Given the description of an element on the screen output the (x, y) to click on. 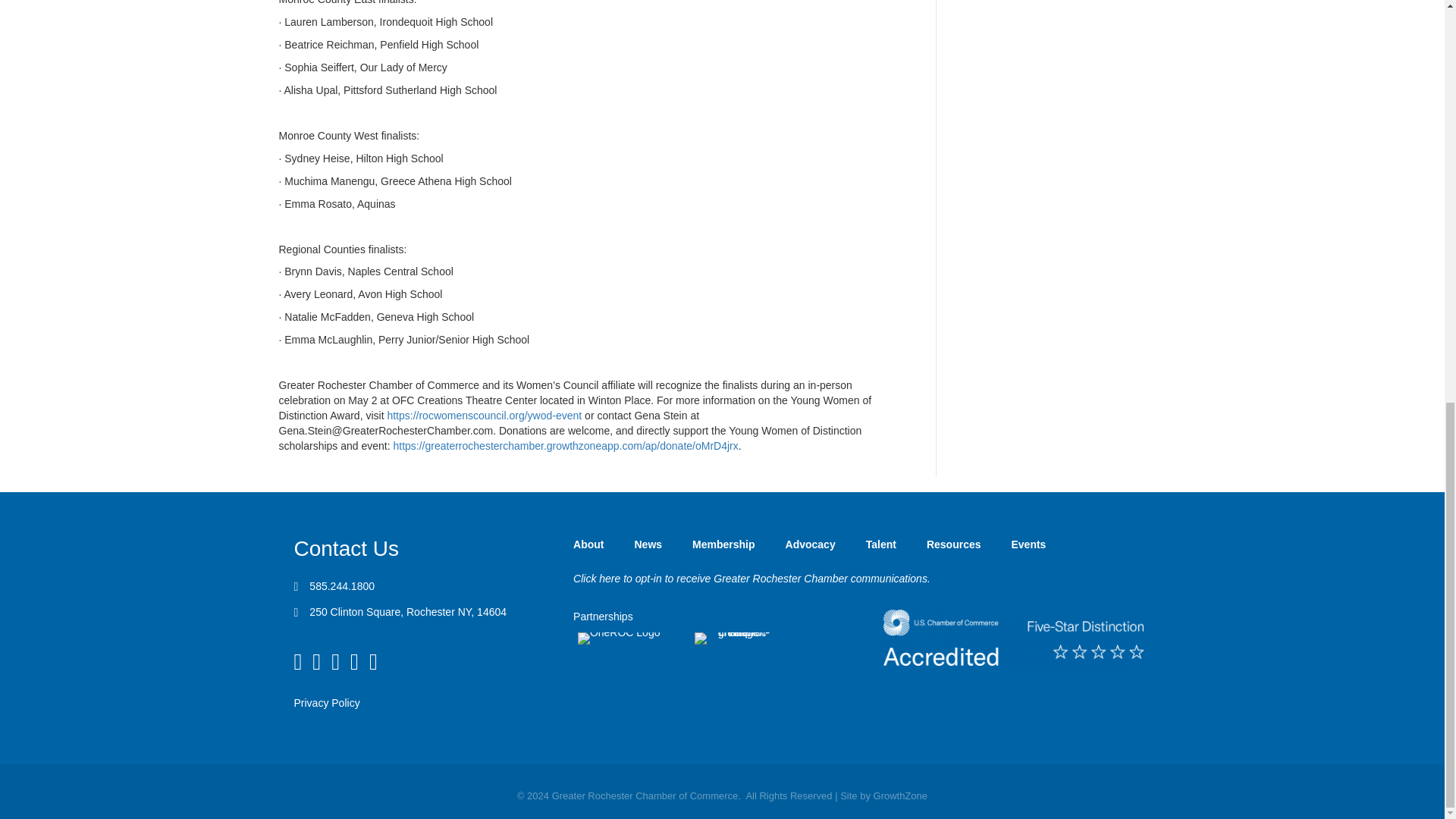
greaterroc-champion-badge (737, 638)
OneROC Logo (619, 638)
Accreditation Badge (1013, 637)
